Given the description of an element on the screen output the (x, y) to click on. 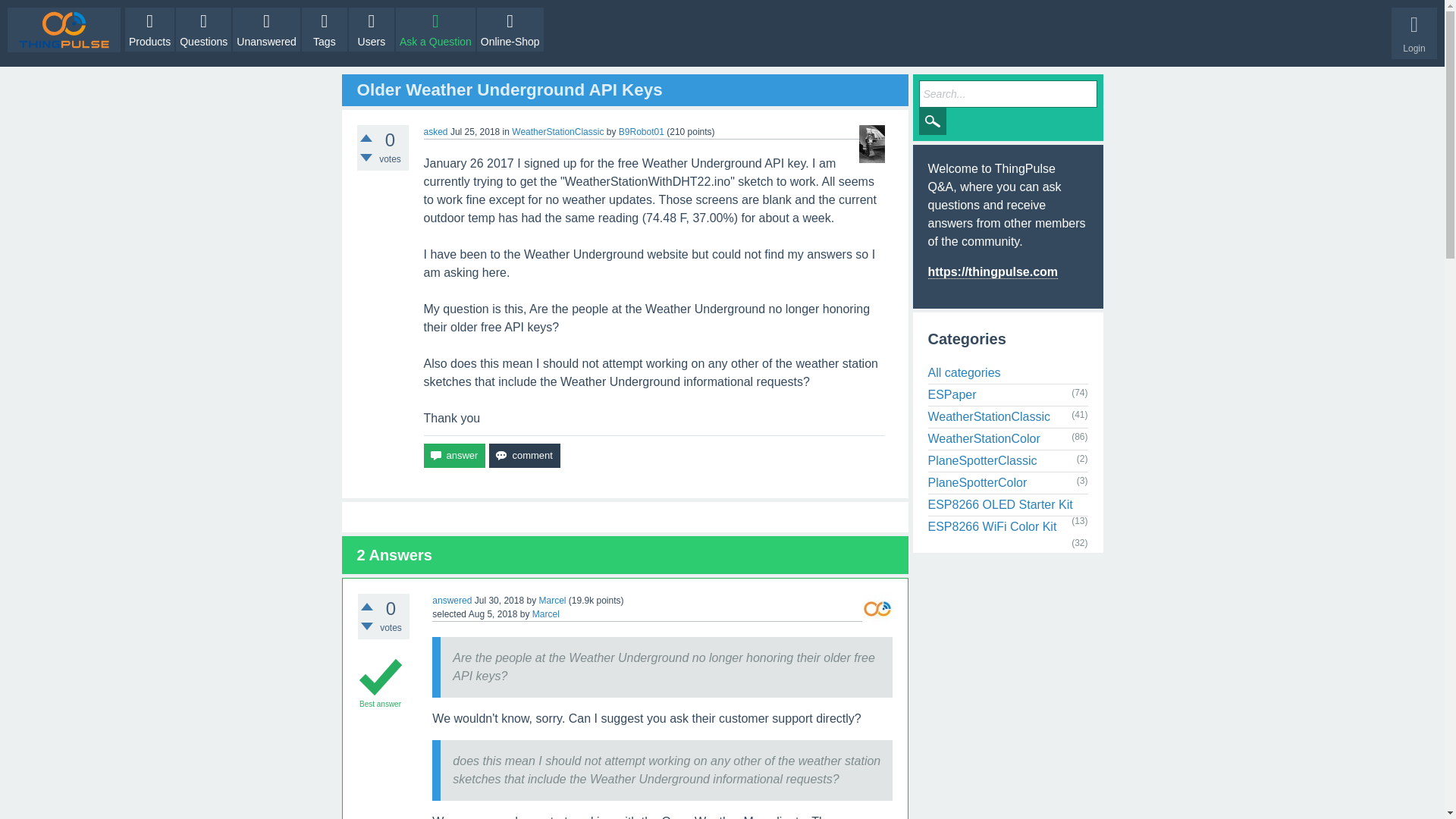
Unanswered (265, 29)
Click to vote up (365, 137)
Products (149, 29)
B9Robot01 (640, 131)
Click to vote down (365, 157)
Search (932, 121)
answer (453, 455)
Ask a Question (436, 29)
Click to vote up (366, 606)
answer (453, 455)
WeatherStationClassic (558, 131)
Online-Shop (510, 29)
comment (524, 455)
asked (434, 131)
Tags (324, 29)
